Given the description of an element on the screen output the (x, y) to click on. 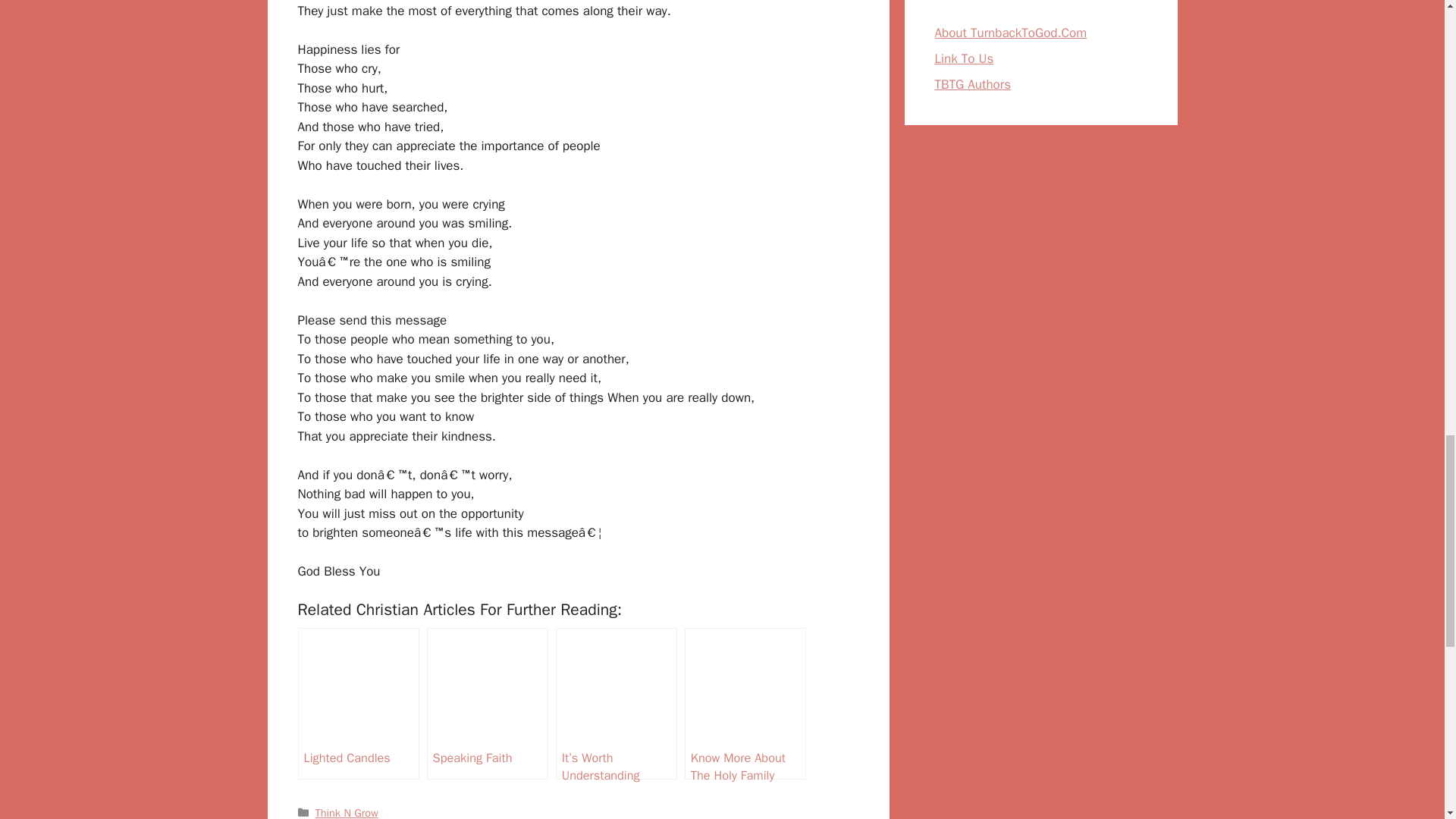
Think N Grow (346, 812)
